Given the description of an element on the screen output the (x, y) to click on. 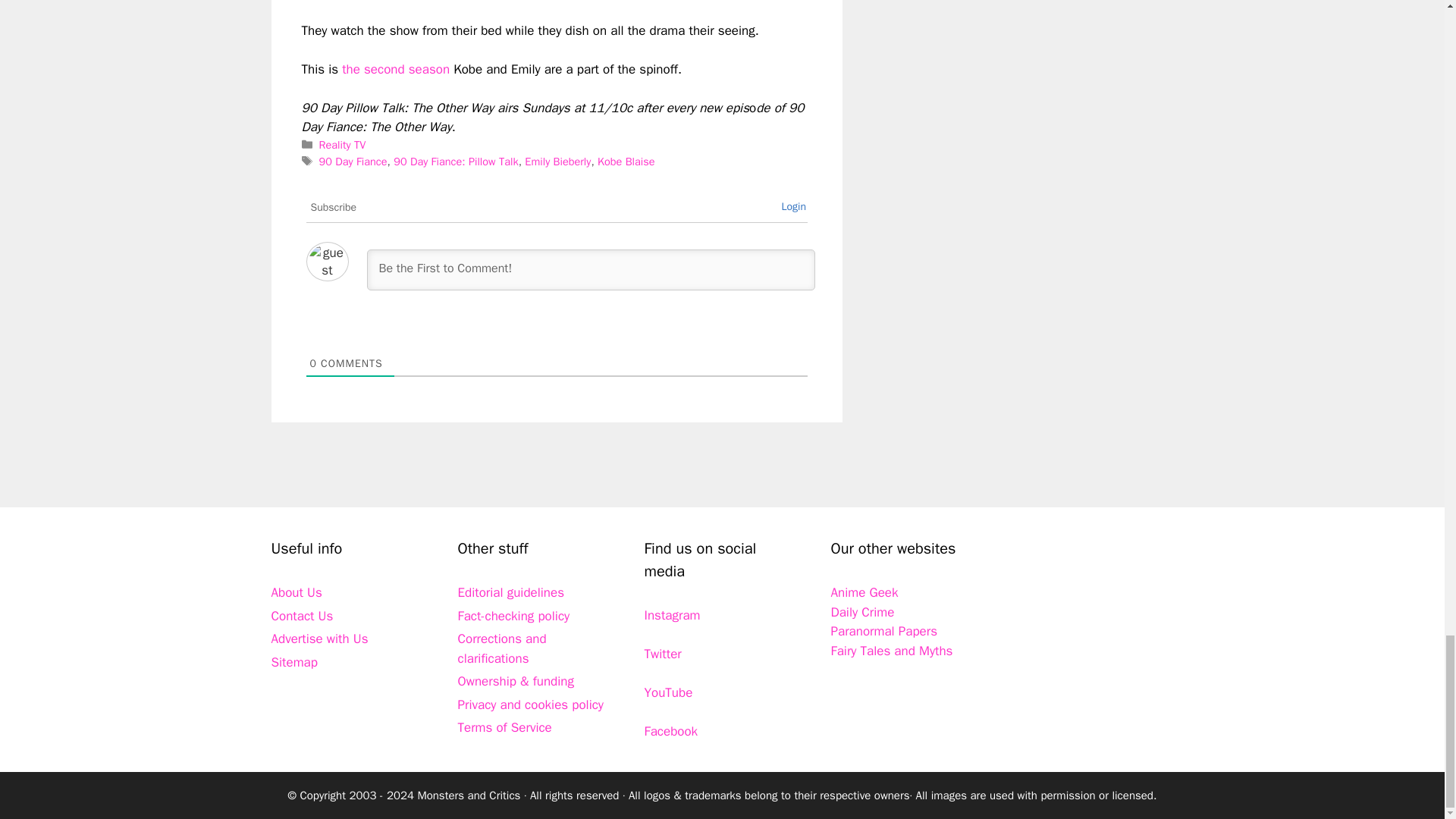
Editorial guidelines (511, 592)
Sitemap (293, 662)
90 Day Fiance (352, 161)
Fact-checking policy (514, 616)
the second season (393, 68)
Emily Bieberly (557, 161)
Kobe Blaise (625, 161)
Terms of Service (504, 727)
Instagram (672, 615)
Advertise with Us (319, 638)
